Given the description of an element on the screen output the (x, y) to click on. 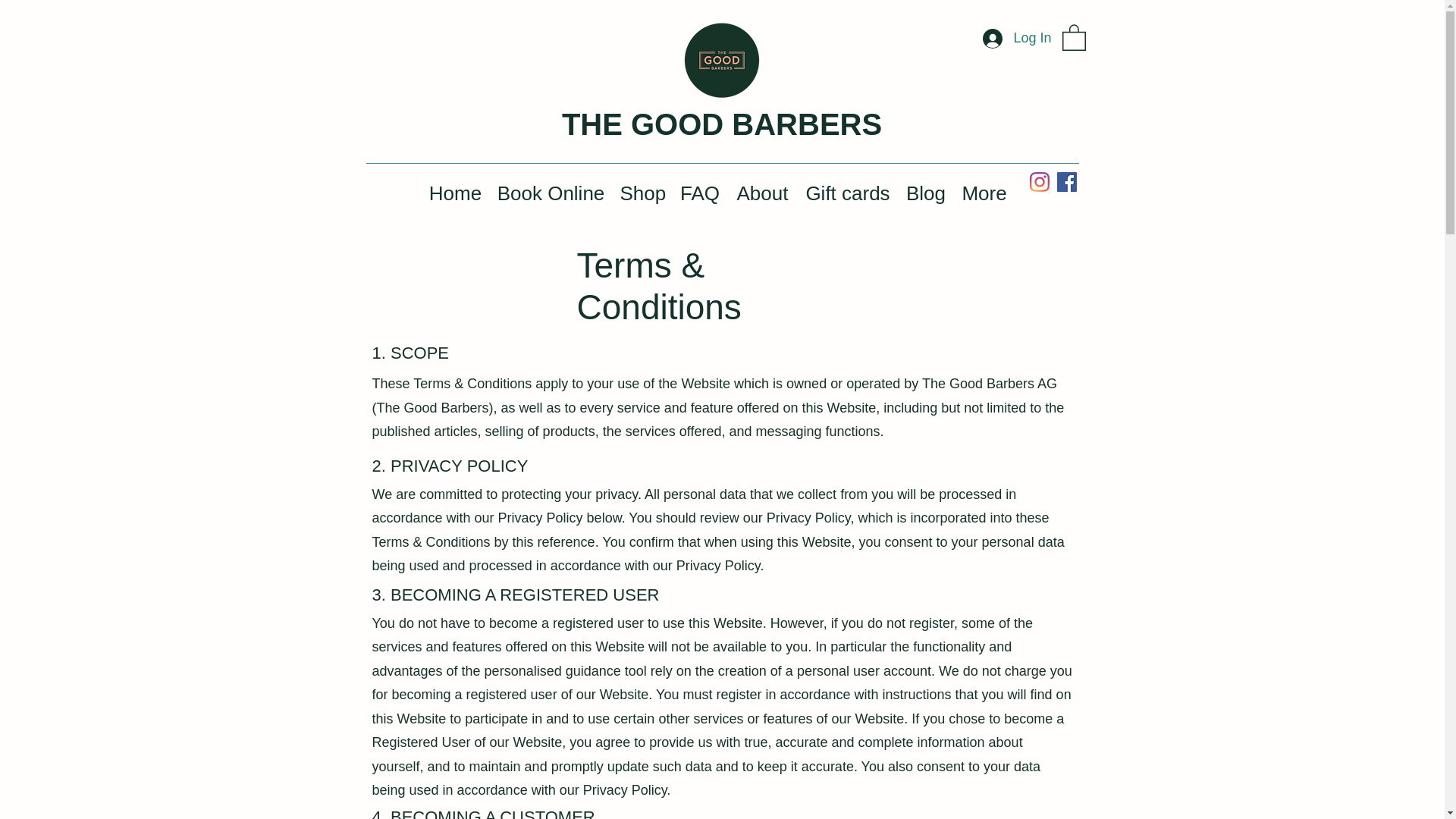
THE GOOD BARBERS (722, 123)
Blog (925, 192)
Home (455, 192)
Gift cards (847, 192)
Log In (1016, 38)
FAQ (698, 192)
Book Online (550, 192)
About (762, 192)
Shop (642, 192)
